Given the description of an element on the screen output the (x, y) to click on. 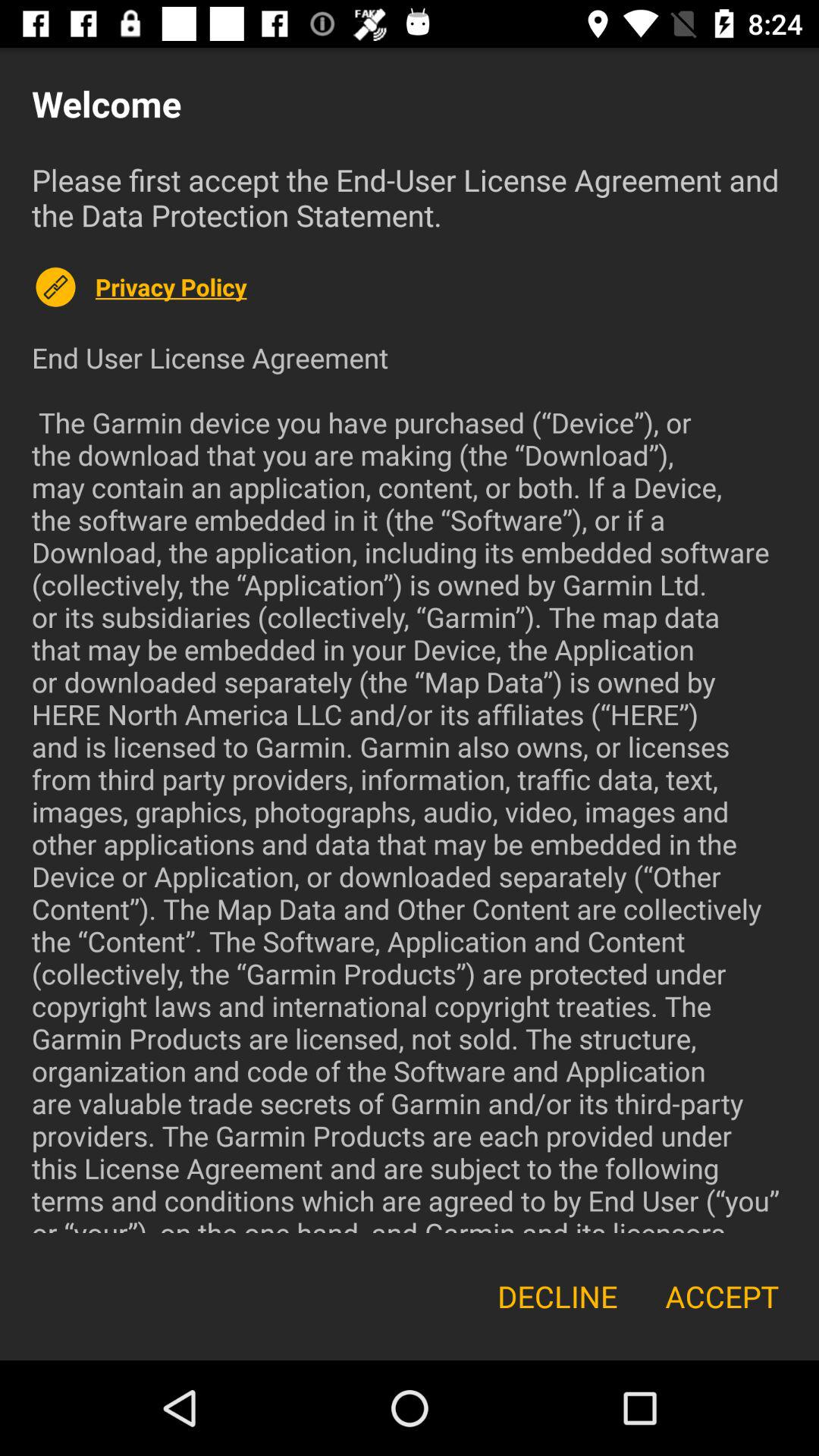
open the privacy policy (441, 286)
